Given the description of an element on the screen output the (x, y) to click on. 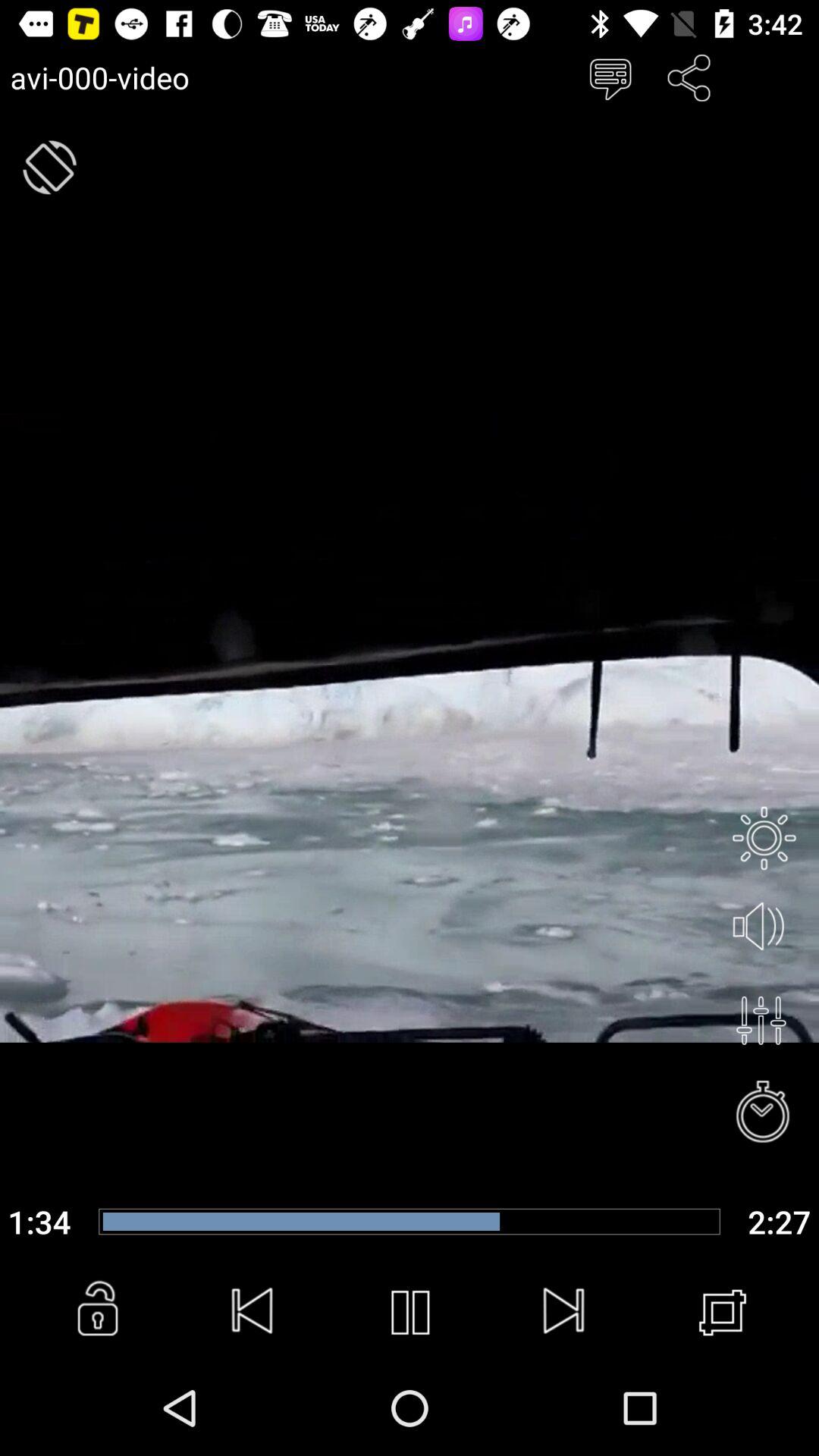
alaram button (764, 1113)
